Given the description of an element on the screen output the (x, y) to click on. 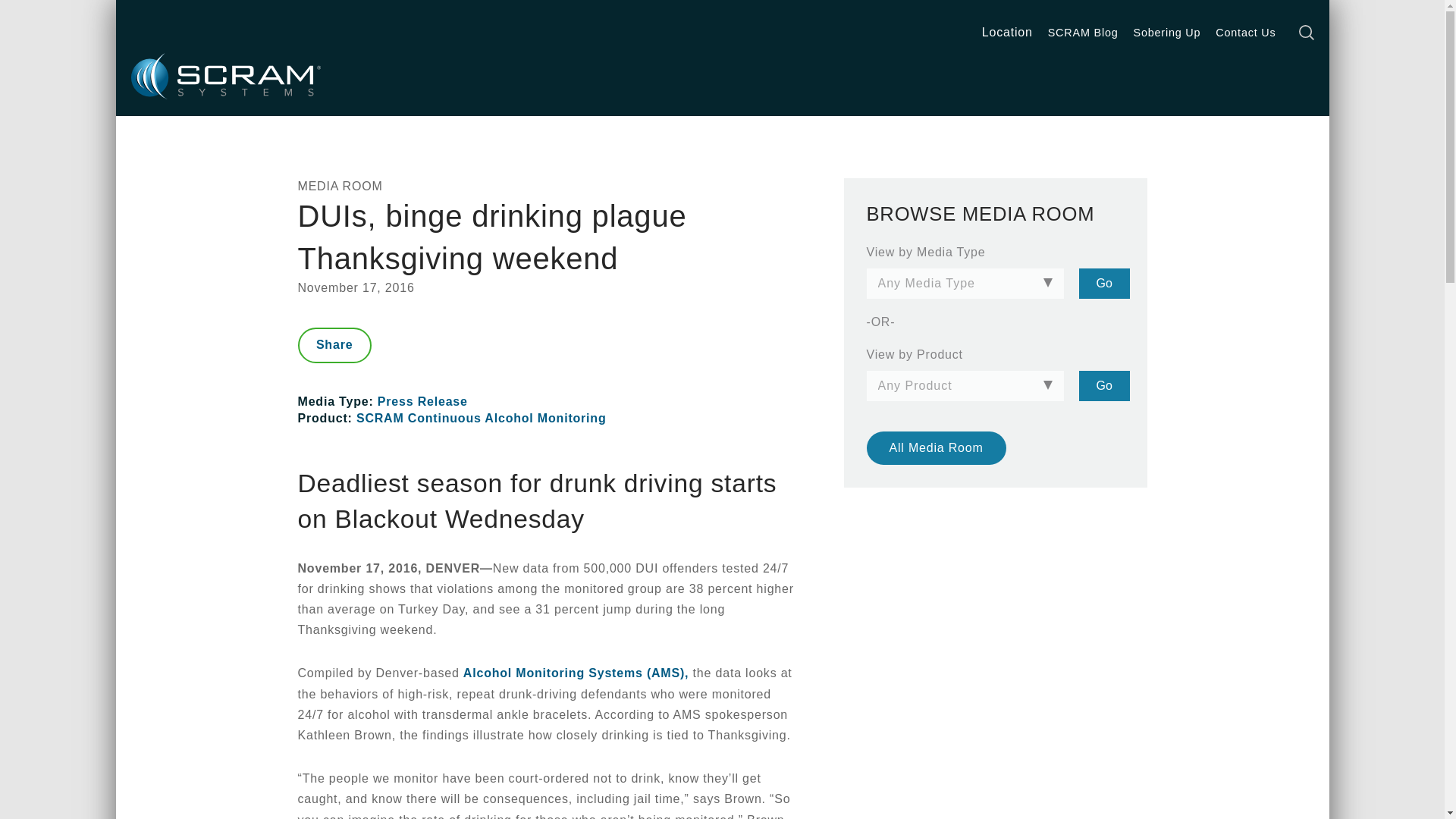
Go (1103, 386)
Go (1103, 283)
Contact Us (1245, 32)
All Media Room (936, 448)
Press Release (422, 400)
Go (1103, 283)
Share (334, 345)
SCRAM Continuous Alcohol Monitoring (481, 418)
Go (1103, 386)
Sobering Up (1165, 32)
